Given the description of an element on the screen output the (x, y) to click on. 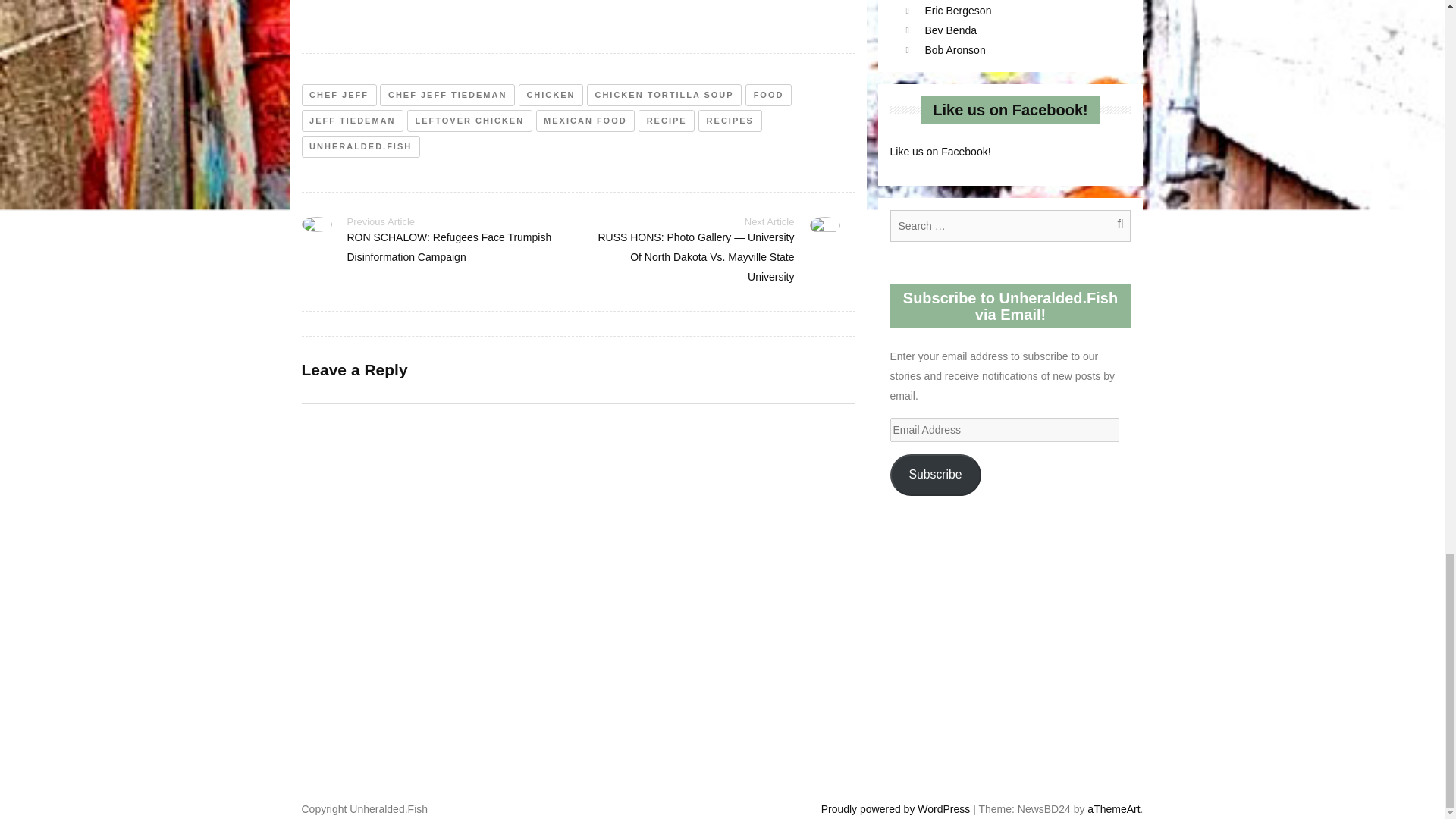
RECIPE (666, 120)
Search (1112, 224)
MEXICAN FOOD (584, 120)
CHICKEN TORTILLA SOUP (663, 95)
CHEF JEFF (339, 95)
JEFF TIEDEMAN (352, 120)
CHICKEN (550, 95)
UNHERALDED.FISH (360, 146)
FOOD (768, 95)
Search (1112, 224)
LEFTOVER CHICKEN (469, 120)
RECIPES (729, 120)
CHEF JEFF TIEDEMAN (447, 95)
RON SCHALOW: Refugees Face Trumpish Disinformation Campaign (449, 246)
